Given the description of an element on the screen output the (x, y) to click on. 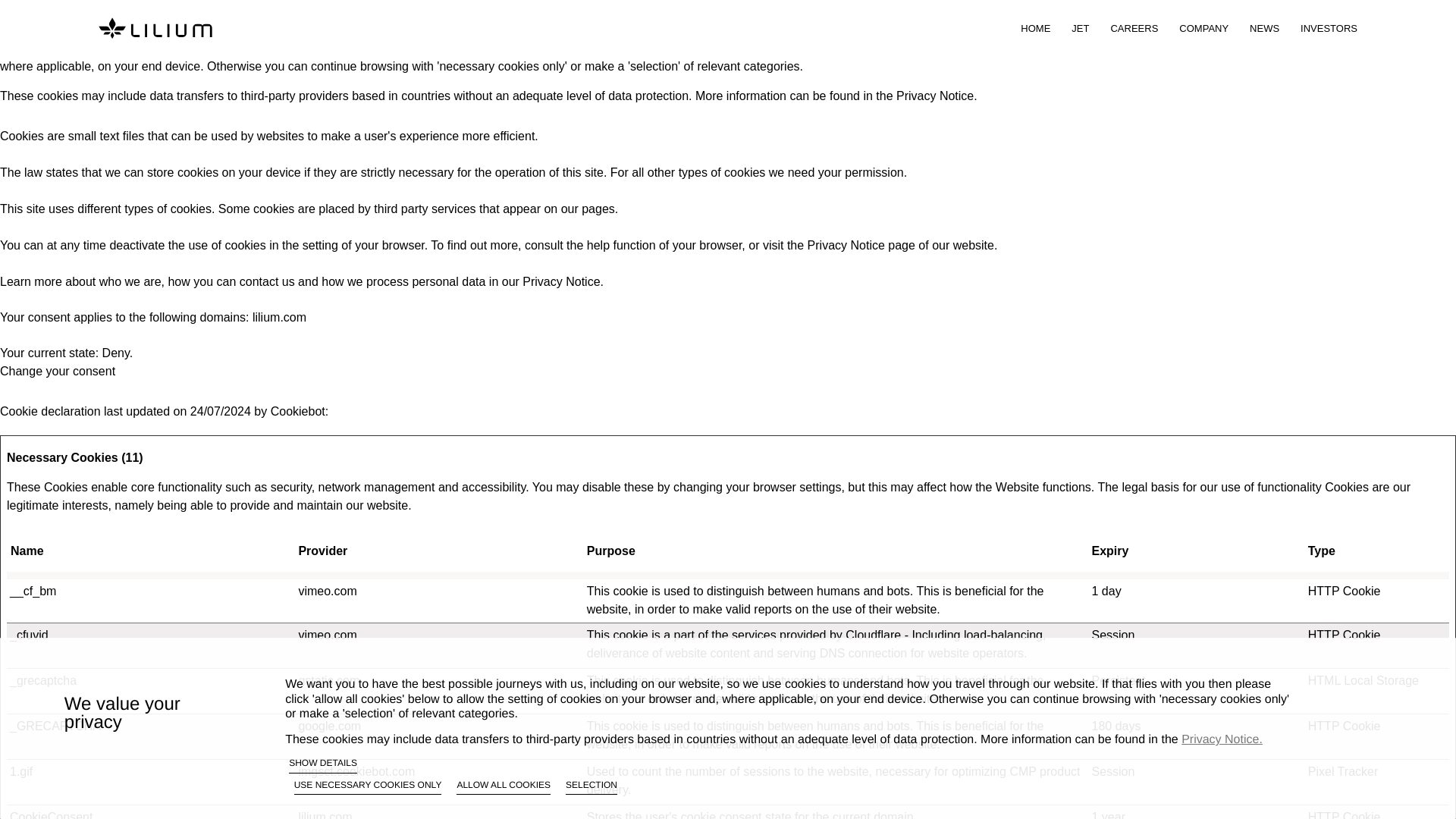
Cookiebot (297, 410)
Privacy Notice. (1221, 739)
Cookiebot (297, 410)
SHOW DETAILS (322, 764)
SELECTION (591, 786)
Change your consent (57, 370)
USE NECESSARY COOKIES ONLY (368, 786)
Privacy Notice (846, 245)
Privacy Notice. (936, 95)
ALLOW ALL COOKIES (503, 786)
Privacy Notice (560, 281)
